Given the description of an element on the screen output the (x, y) to click on. 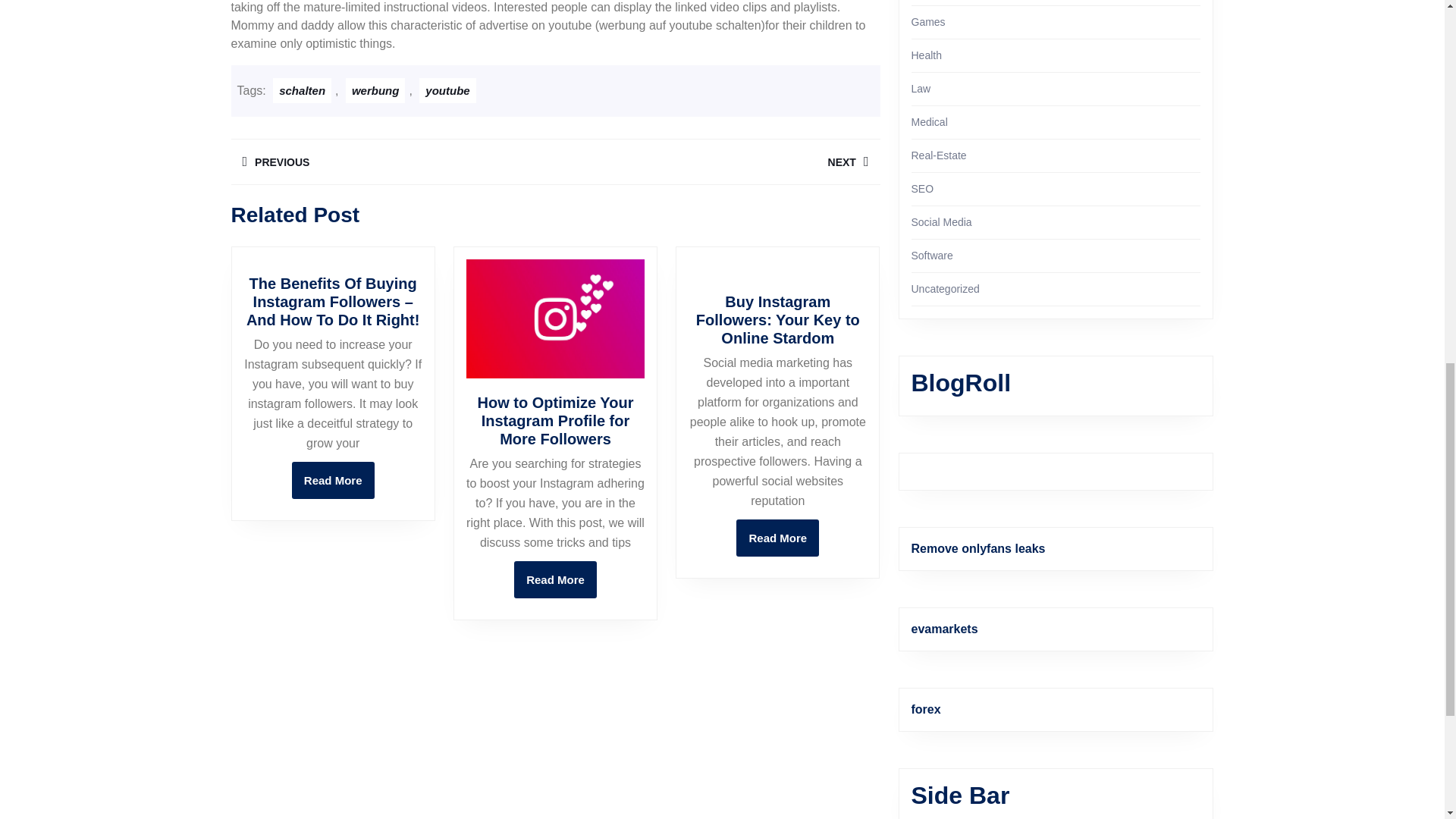
Games (716, 161)
Health (927, 21)
schalten (554, 579)
werbung (926, 55)
youtube (302, 90)
Medical (376, 90)
Law (777, 537)
